Given the description of an element on the screen output the (x, y) to click on. 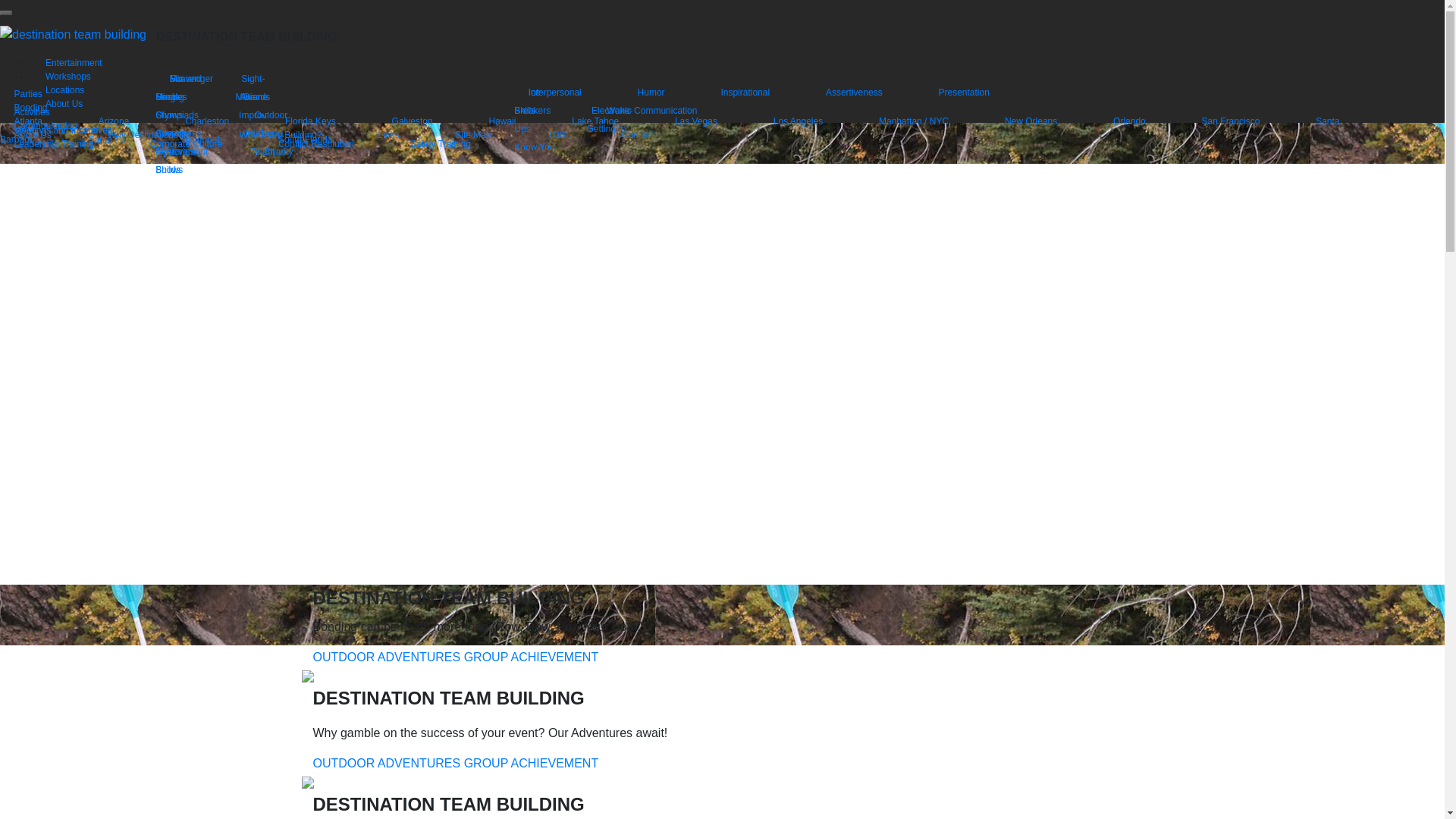
DESTINATION TEAM BUILDING (246, 36)
Improv Comedy (210, 123)
Mix and Mingles (191, 87)
Murder Mysteries (215, 141)
Activities (45, 111)
Talent Shows (215, 160)
Game Shows (211, 105)
Parties (42, 93)
GROUP ACHIEVEMENT (531, 656)
Entertainment (73, 62)
